Given the description of an element on the screen output the (x, y) to click on. 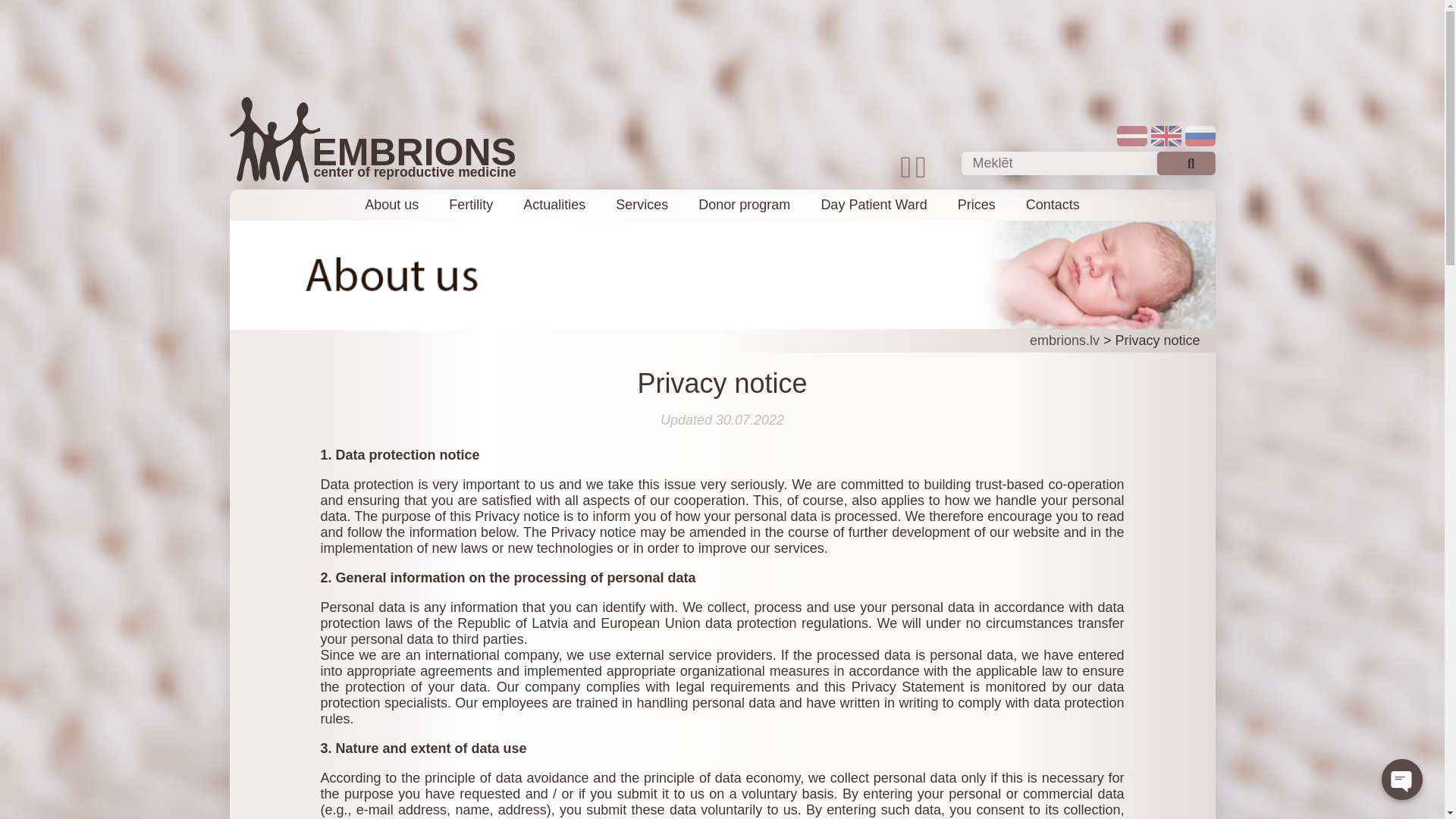
Fertility (470, 204)
Services (641, 204)
Contacts (1053, 204)
Go to embrions.lv. (1064, 340)
Prices (976, 204)
Day Patient Ward (873, 204)
Donor program (744, 204)
Actualities (553, 204)
Search for: (1087, 163)
About us (392, 204)
